Given the description of an element on the screen output the (x, y) to click on. 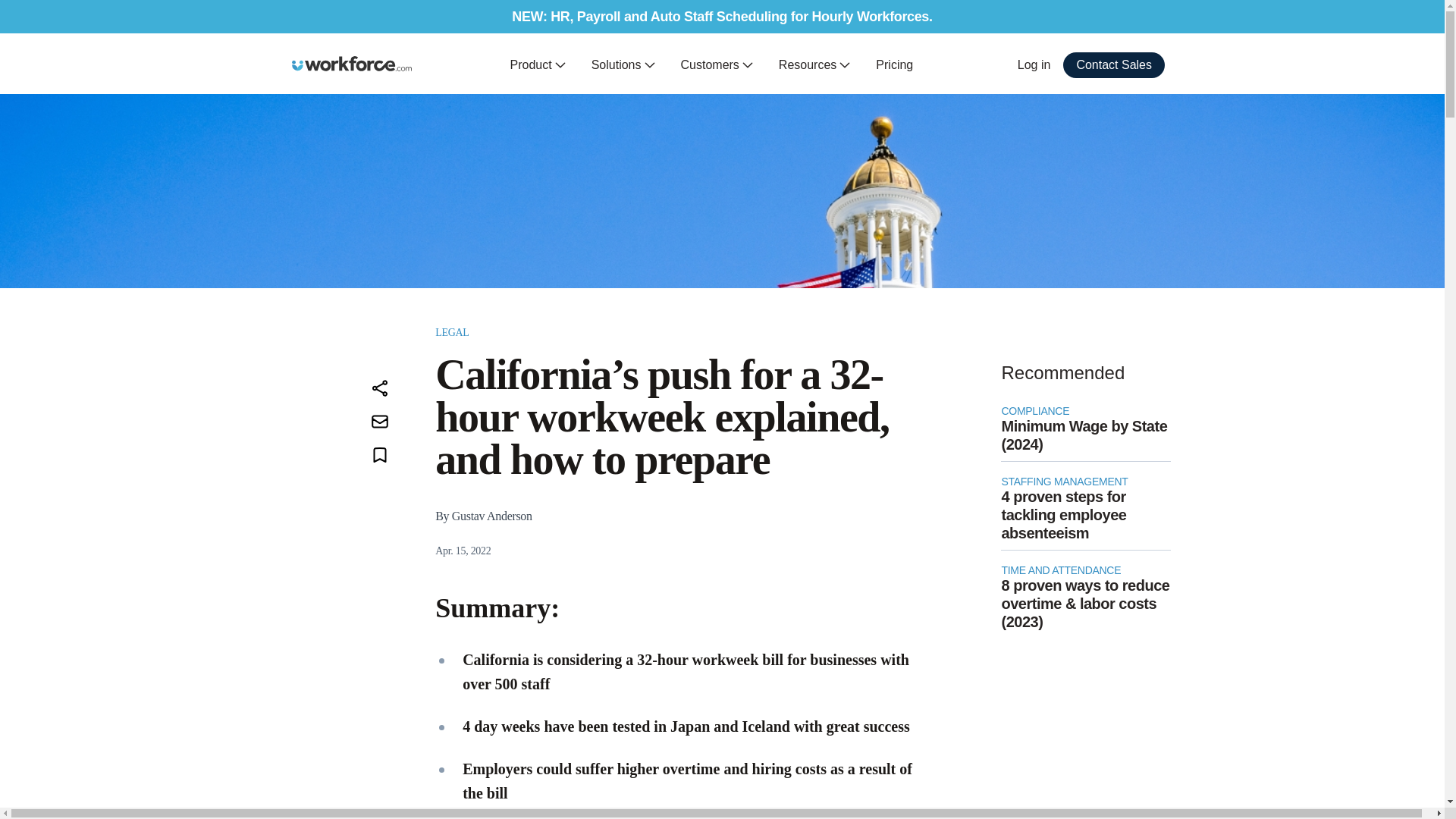
Product (539, 65)
Workforce.com (351, 63)
Solutions (623, 65)
